Given the description of an element on the screen output the (x, y) to click on. 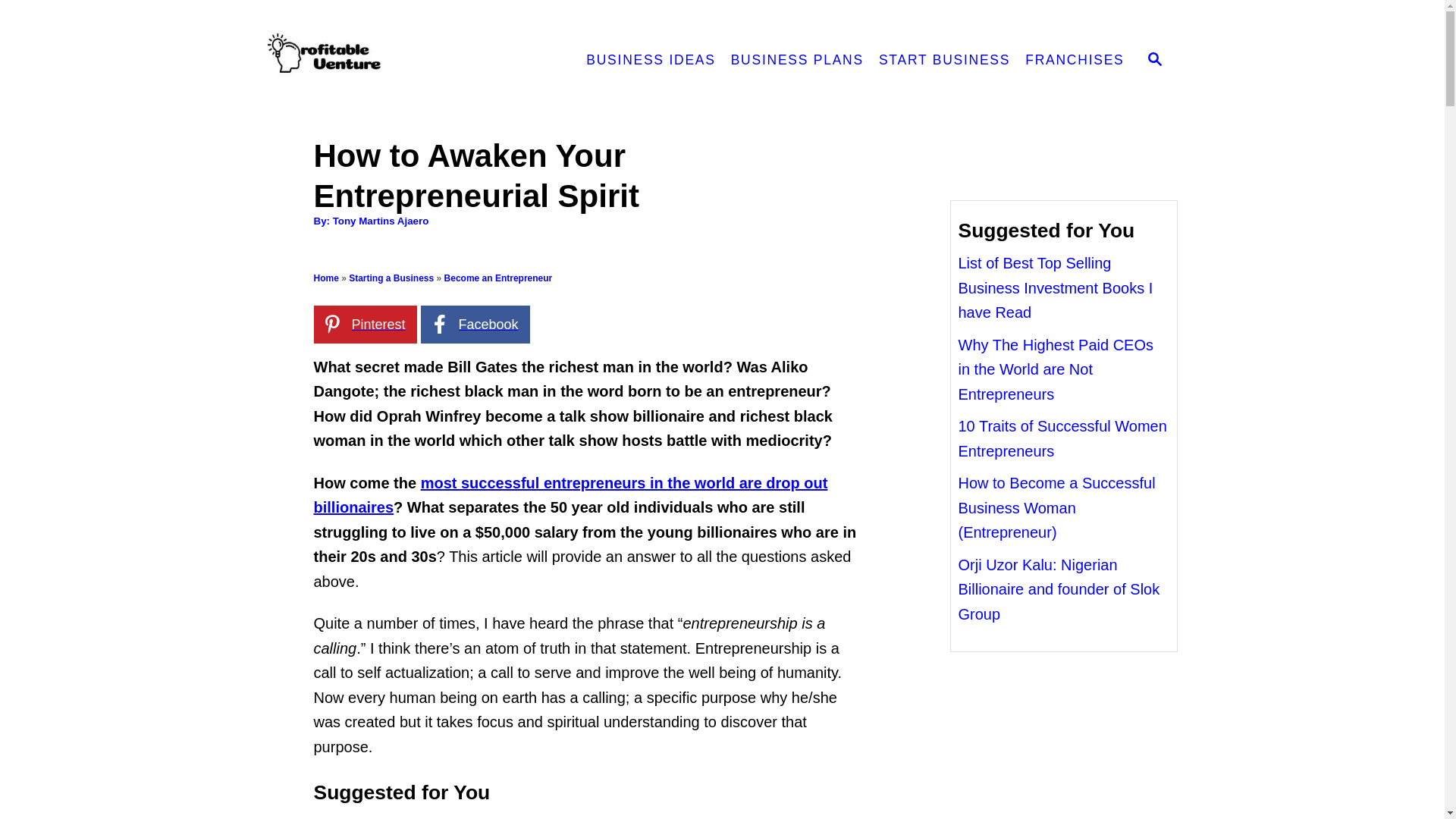
FRANCHISES (1074, 60)
Facebook (474, 324)
Pinterest (365, 324)
Become an Entrepreneur (498, 277)
BUSINESS IDEAS (650, 60)
Tony Martins Ajaero (381, 220)
Why The Highest Paid CEOs in the World are Not Entrepreneurs (1056, 369)
ProfitableVenture (400, 60)
START BUSINESS (943, 60)
BUSINESS PLANS (796, 60)
Home (326, 277)
